Given the description of an element on the screen output the (x, y) to click on. 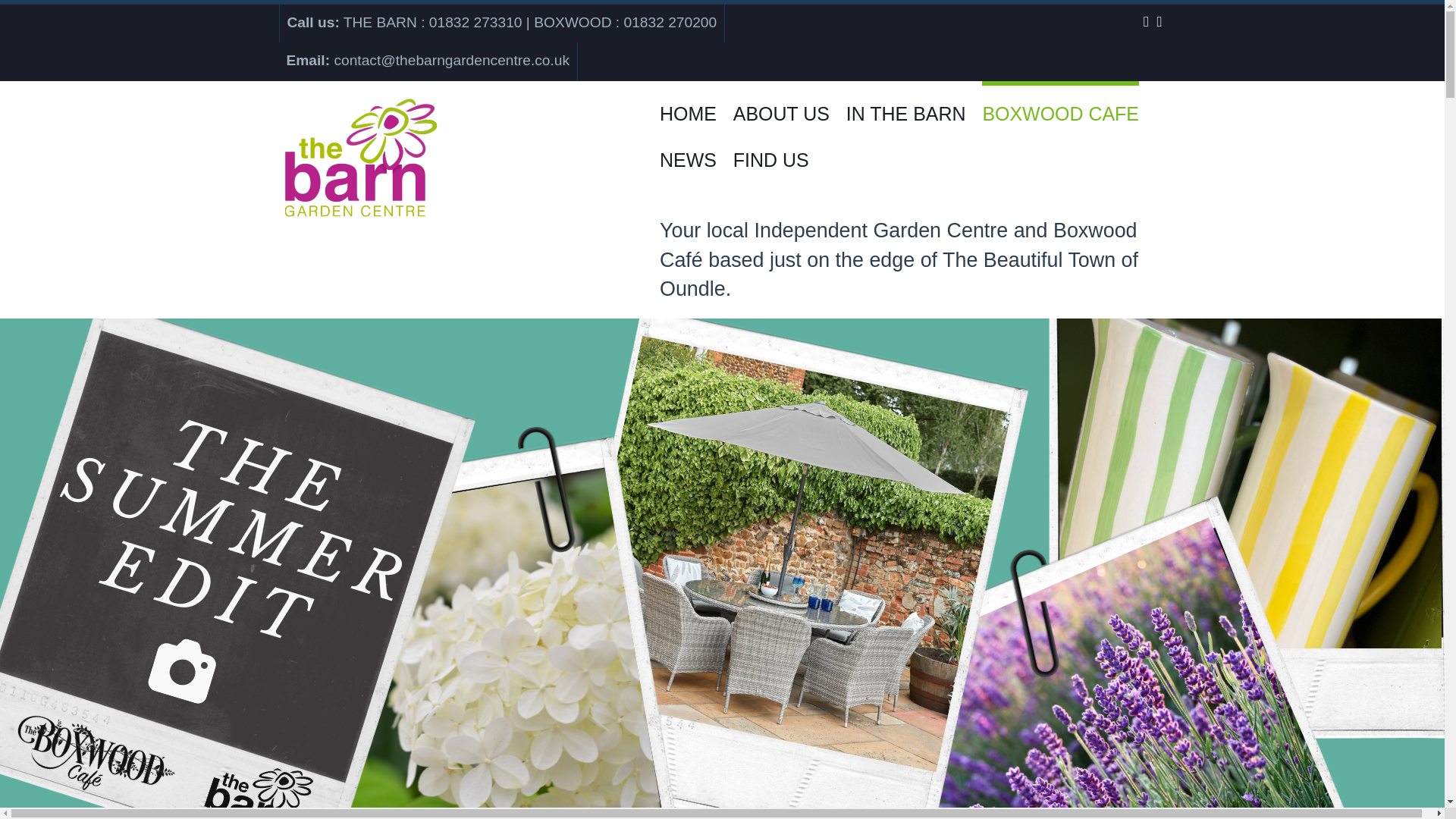
NEWS (687, 150)
IN THE BARN (905, 104)
HOME (687, 104)
ABOUT US (781, 104)
FIND US (771, 150)
BOXWOOD CAFE (1059, 104)
